Given the description of an element on the screen output the (x, y) to click on. 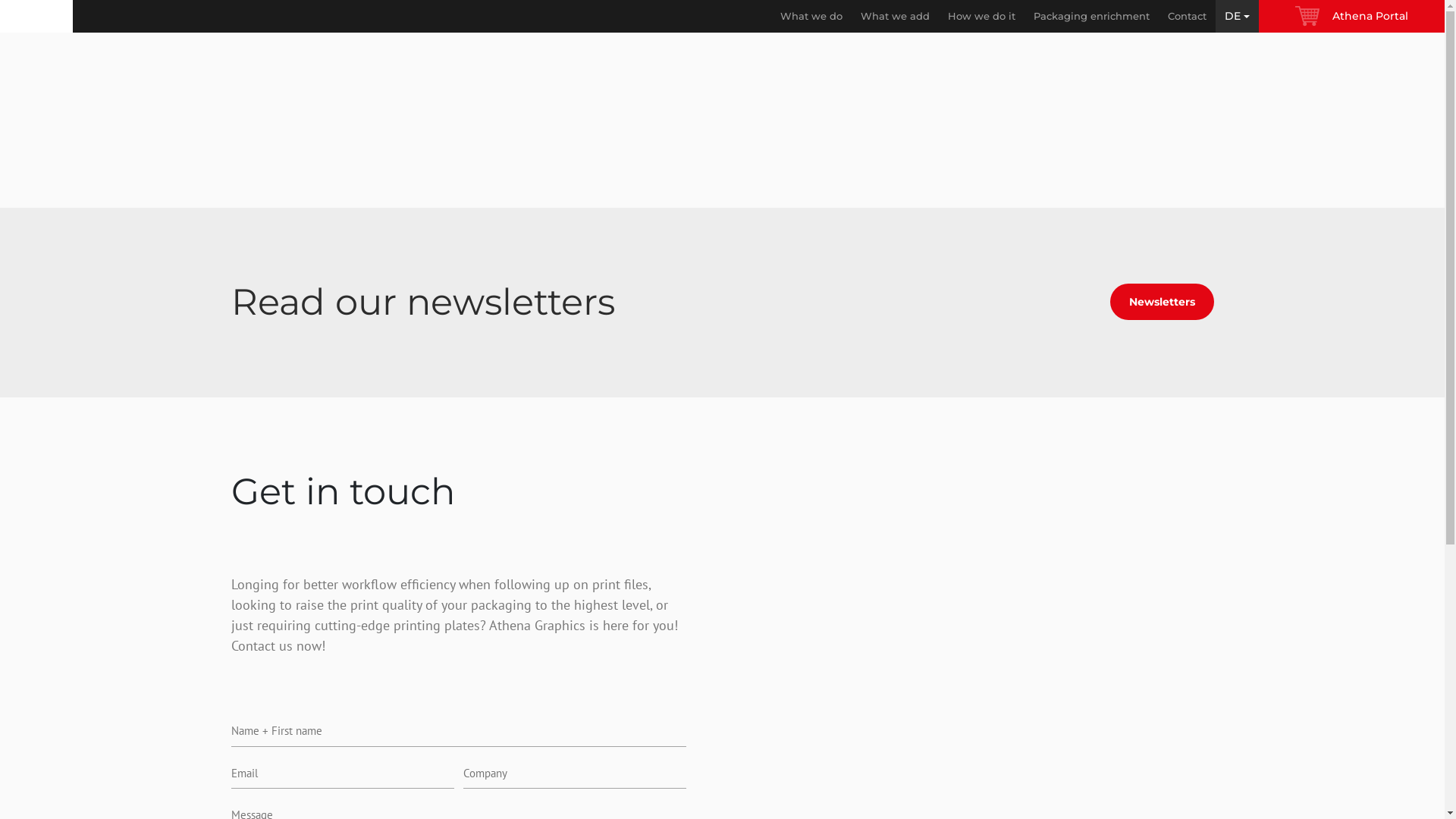
What we add Element type: text (894, 16)
Athena Portal Element type: text (1351, 16)
Packaging enrichment Element type: text (1091, 16)
athena graphics Element type: hover (36, 16)
What we do Element type: text (811, 16)
How we do it Element type: text (981, 16)
Newsletters Element type: text (1162, 301)
DE Element type: text (1236, 16)
Contact Element type: text (1186, 16)
